Given the description of an element on the screen output the (x, y) to click on. 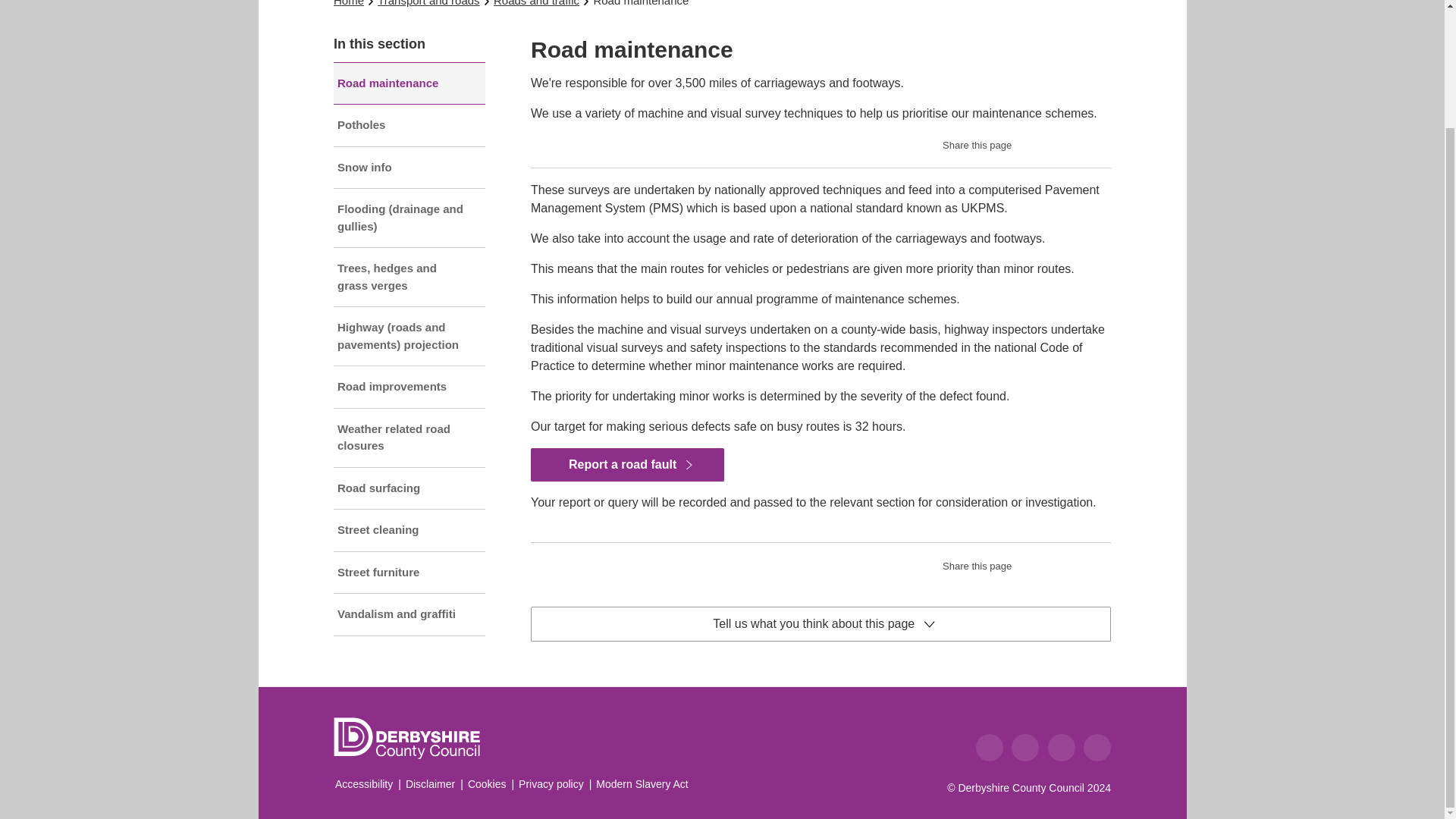
Accessibility (363, 784)
Cookies (486, 784)
Go to Transport and roads from here (428, 3)
Roads and traffic (536, 3)
Privacy policy (550, 784)
Modern Slavery Act (641, 784)
Street furniture (408, 572)
Vandalism and graffiti (408, 614)
Accessibility (363, 784)
Road maintenance (408, 83)
